Given the description of an element on the screen output the (x, y) to click on. 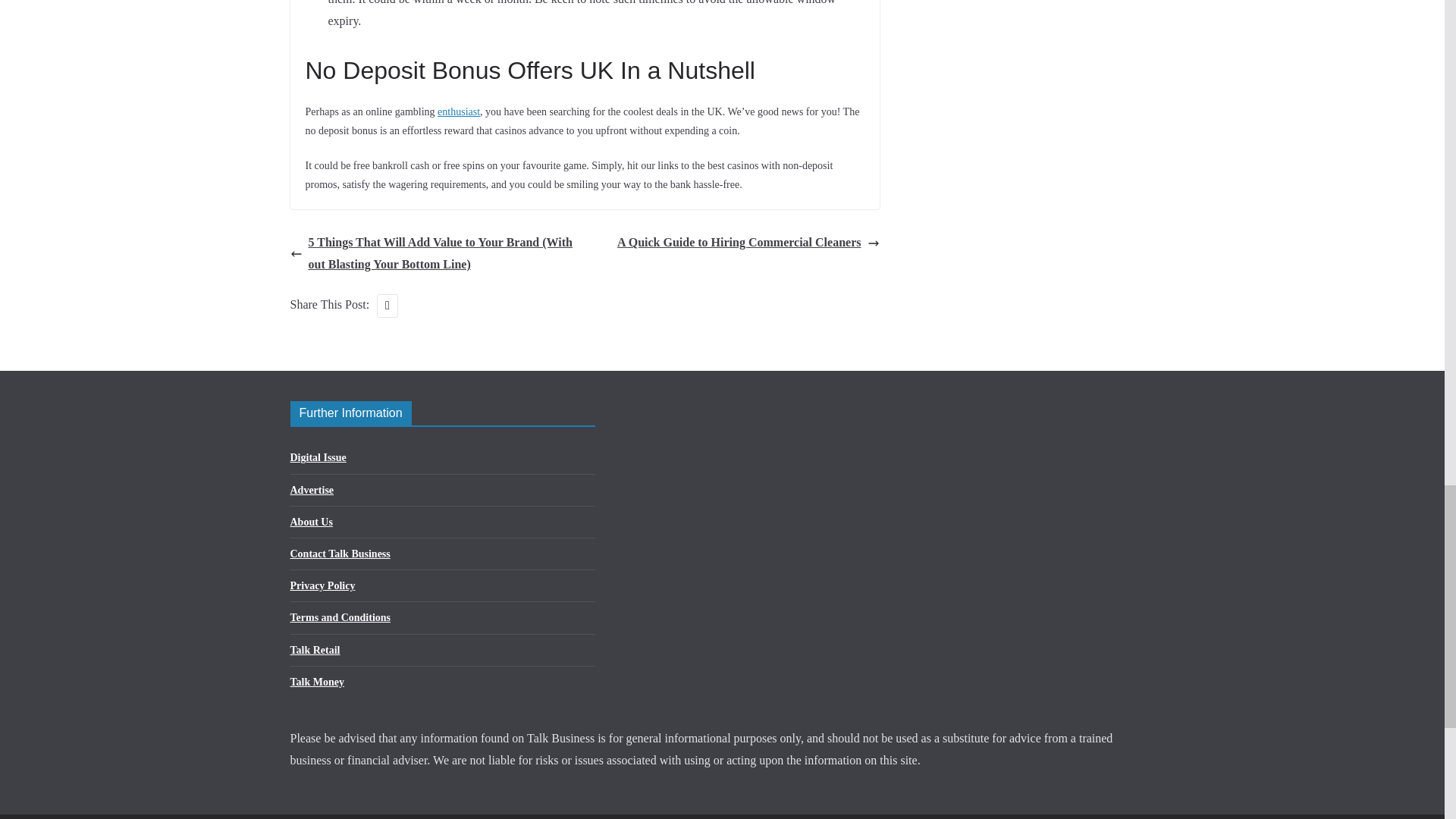
enthusiast (459, 111)
A Quick Guide to Hiring Commercial Cleaners (748, 242)
